Given the description of an element on the screen output the (x, y) to click on. 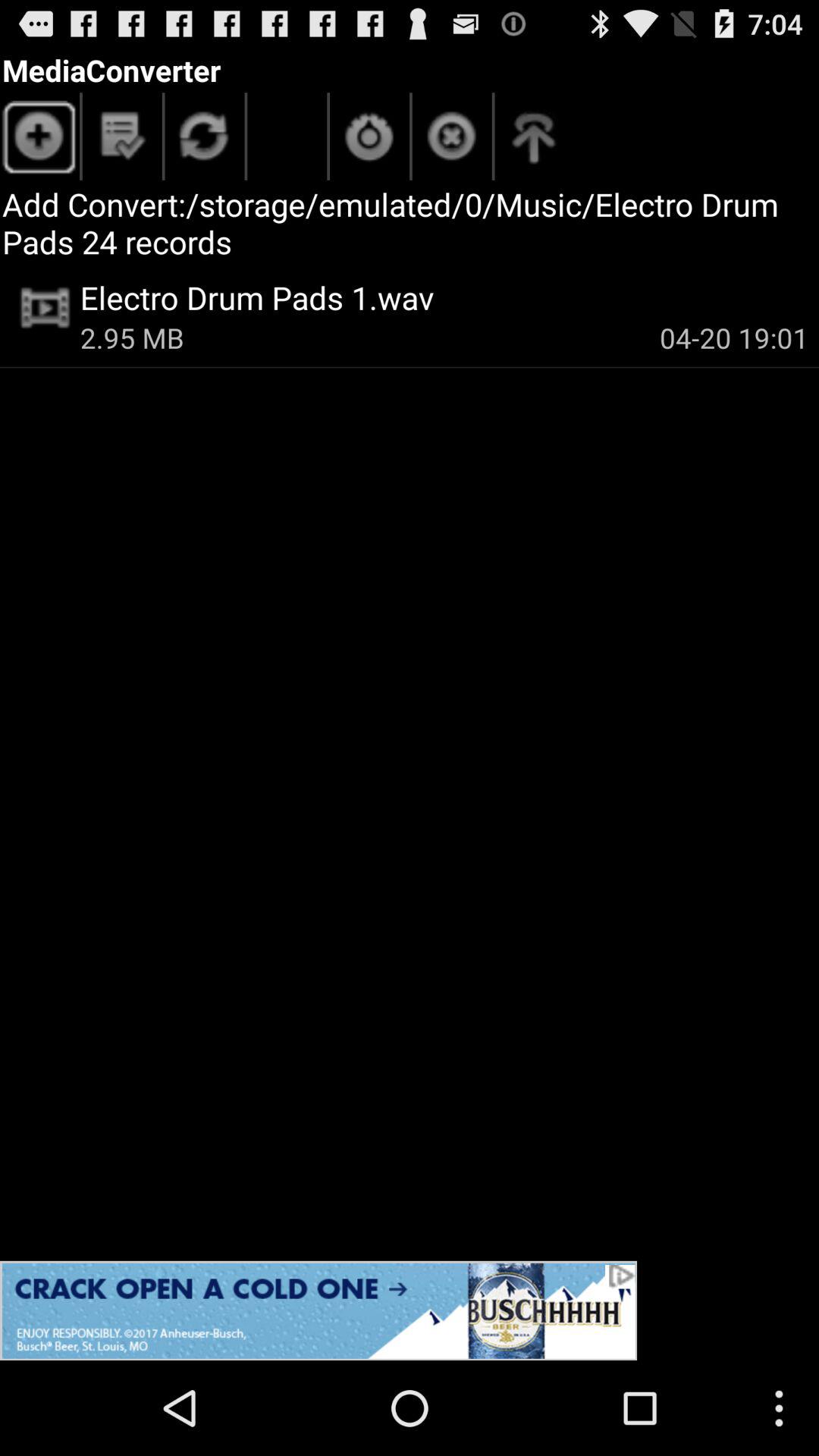
refresh (204, 140)
